Given the description of an element on the screen output the (x, y) to click on. 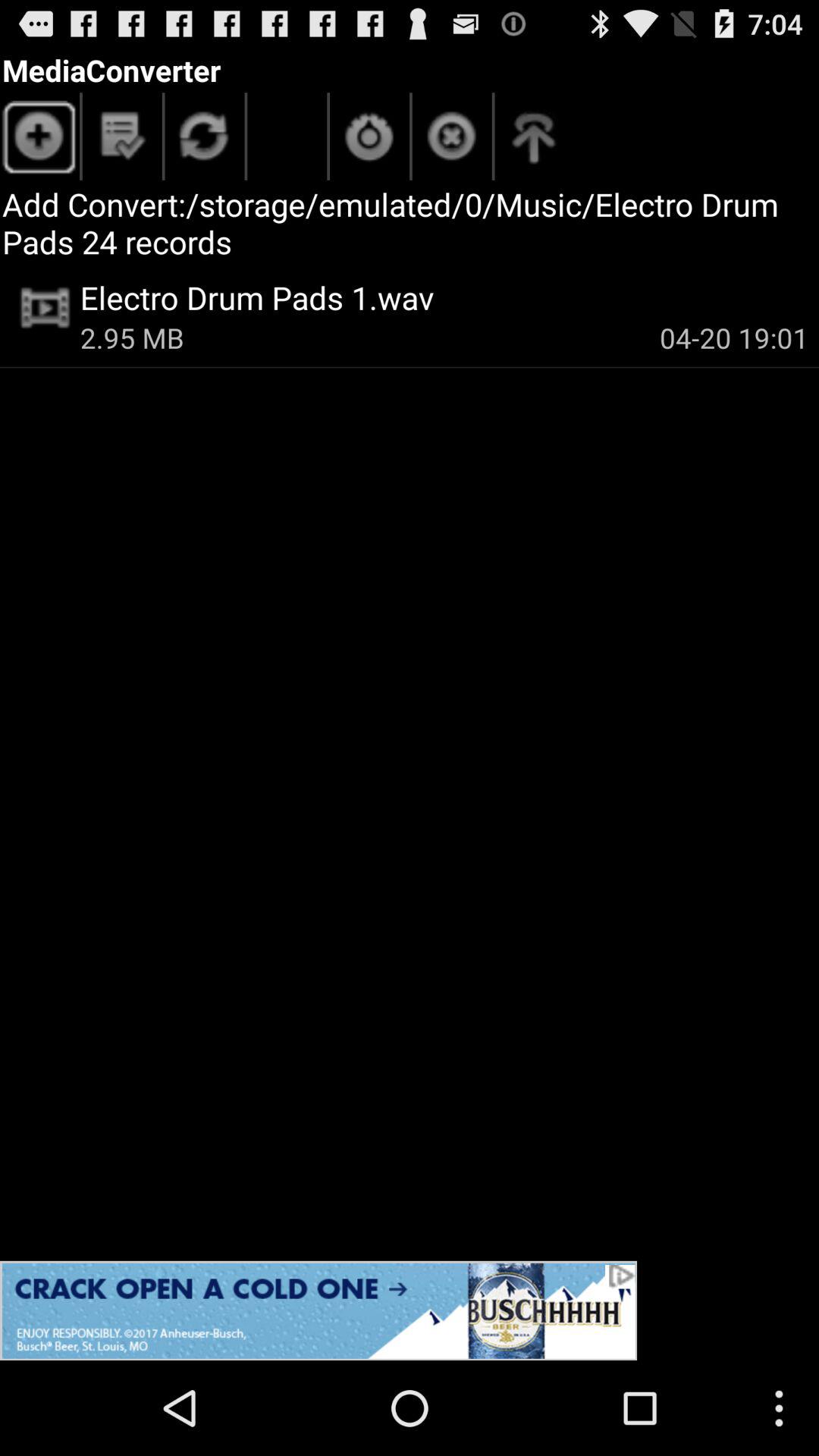
refresh (204, 140)
